Given the description of an element on the screen output the (x, y) to click on. 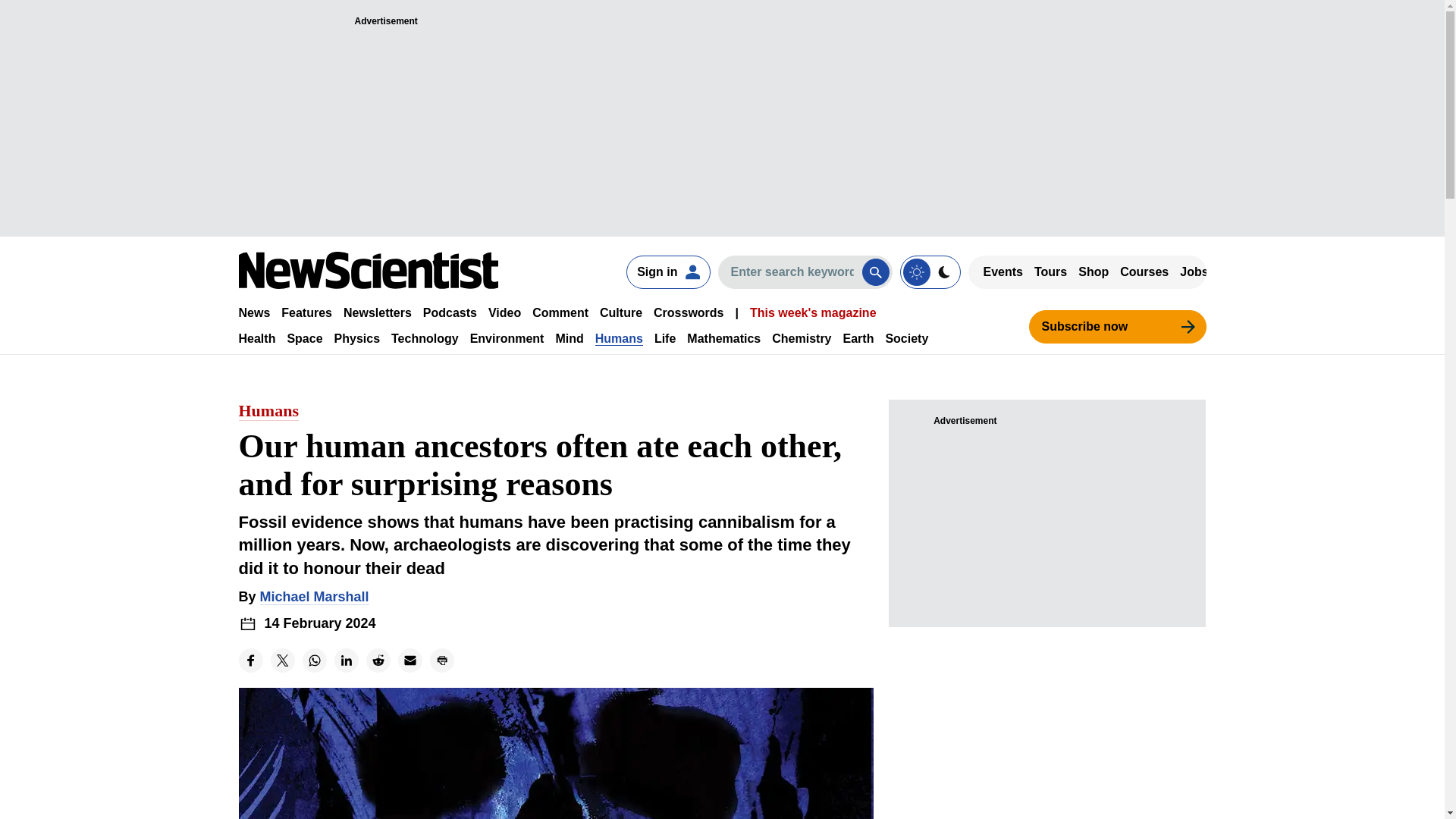
Calendar icon (247, 623)
News (253, 313)
on (929, 272)
Crosswords (688, 313)
Technology (424, 338)
Features (306, 313)
This week's magazine (812, 313)
Tours (1050, 272)
Link to the homepage (367, 270)
Physics (357, 338)
Comment (560, 313)
Podcasts (450, 313)
Health (256, 338)
Events (1002, 272)
Video (504, 313)
